Given the description of an element on the screen output the (x, y) to click on. 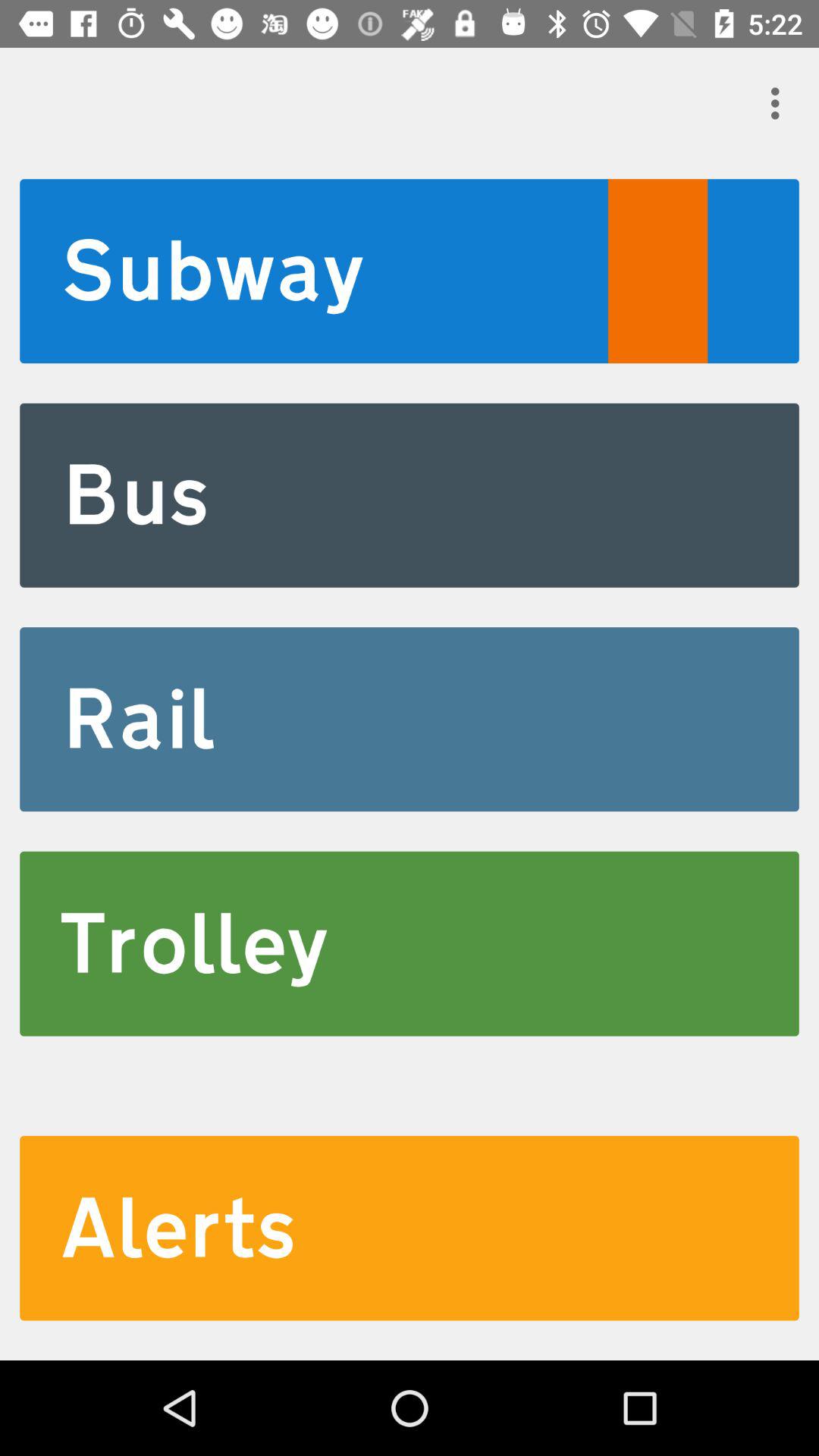
jump to alerts (409, 1227)
